Given the description of an element on the screen output the (x, y) to click on. 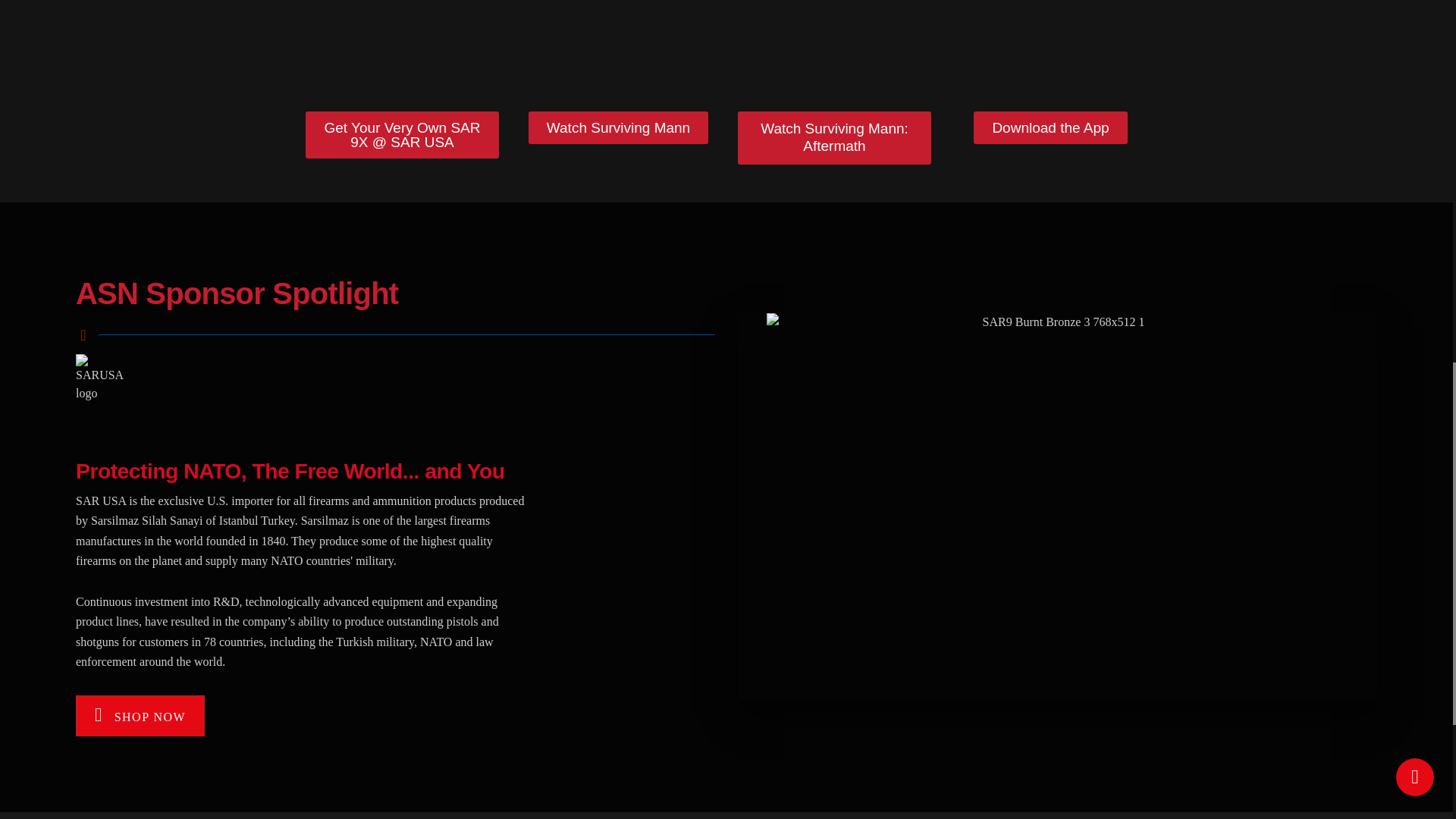
Download the App (1050, 127)
Watch Surviving Mann: Aftermath (834, 137)
Like A Train 3 (942, 42)
SHOP NOW (140, 715)
Watch Surviving Mann (617, 127)
